Given the description of an element on the screen output the (x, y) to click on. 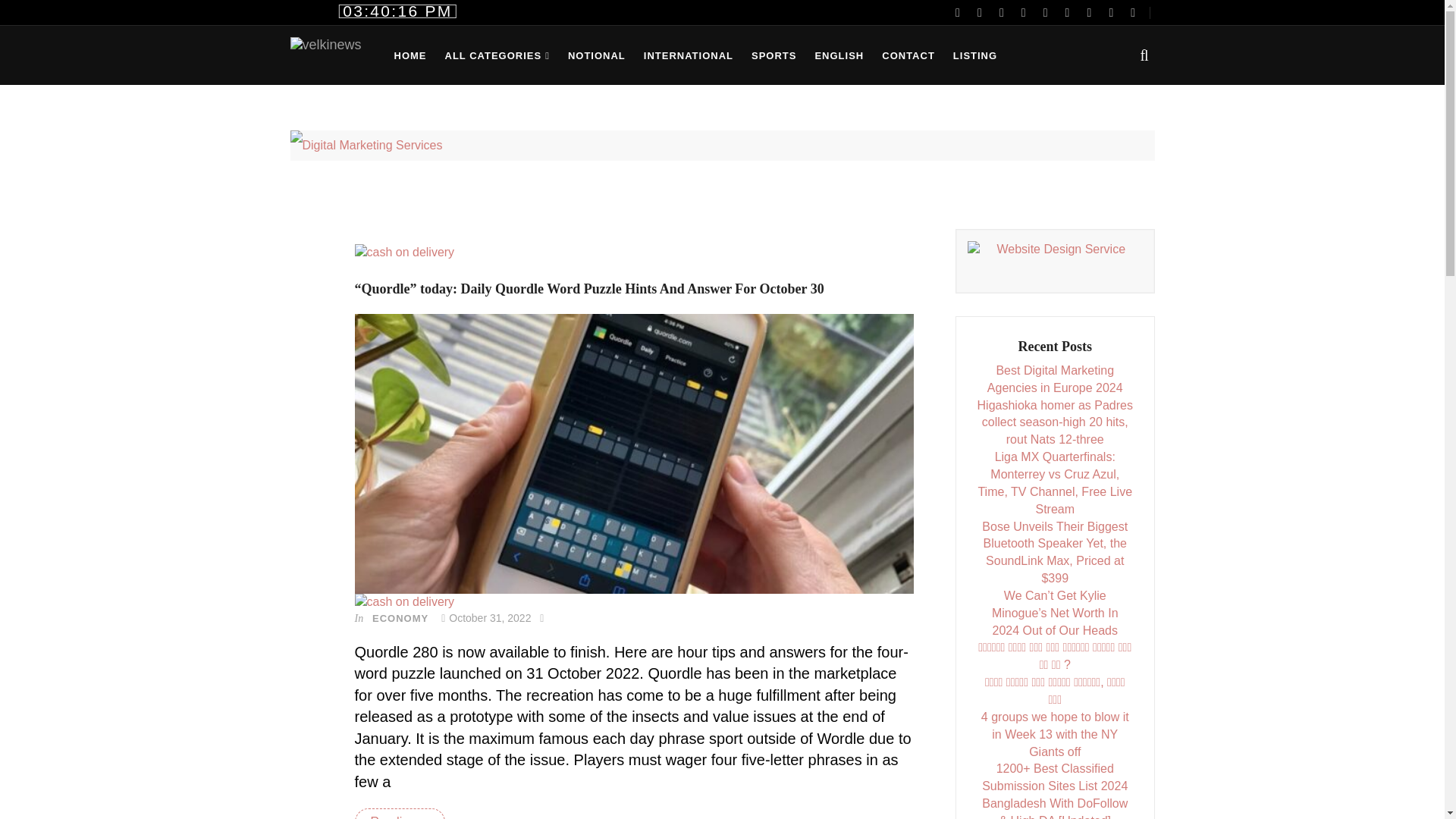
Search (1095, 351)
NOTIONAL (596, 55)
SPORTS (773, 55)
CONTACT (907, 55)
INTERNATIONAL (688, 55)
ENGLISH (838, 55)
ALL CATEGORIES (496, 55)
LISTING (974, 55)
